Given the description of an element on the screen output the (x, y) to click on. 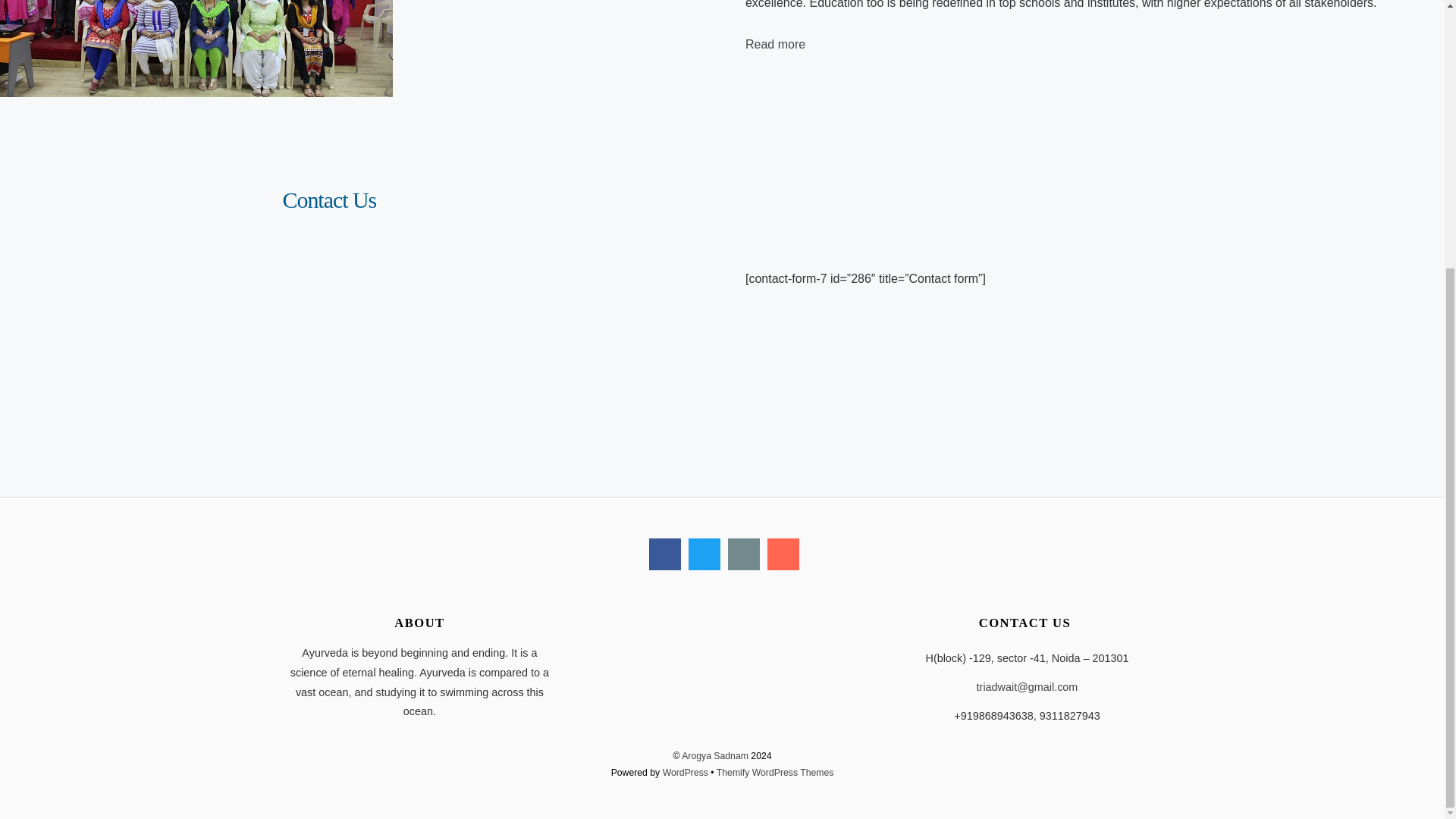
Themify WordPress Themes (775, 772)
WordPress (684, 772)
Arogya Sadnam (714, 756)
Read more (775, 43)
